Given the description of an element on the screen output the (x, y) to click on. 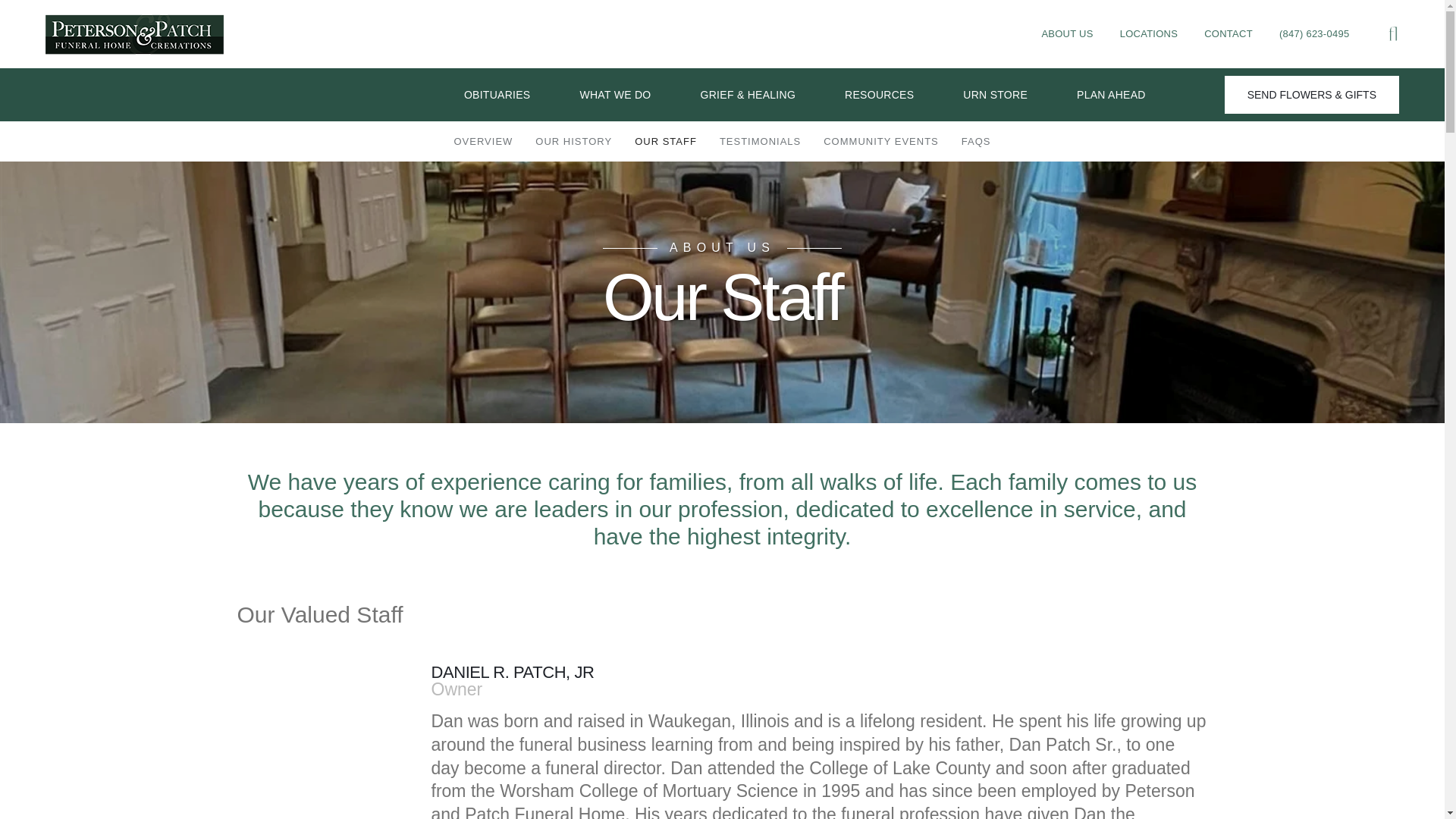
URN STORE (994, 94)
ABOUT US (1067, 33)
RESOURCES (879, 94)
WHAT WE DO (614, 94)
LOCATIONS (1148, 33)
COMMUNITY EVENTS (881, 141)
PLAN AHEAD (1111, 94)
OVERVIEW (483, 141)
OUR STAFF (665, 141)
Skip to content (32, 15)
